Given the description of an element on the screen output the (x, y) to click on. 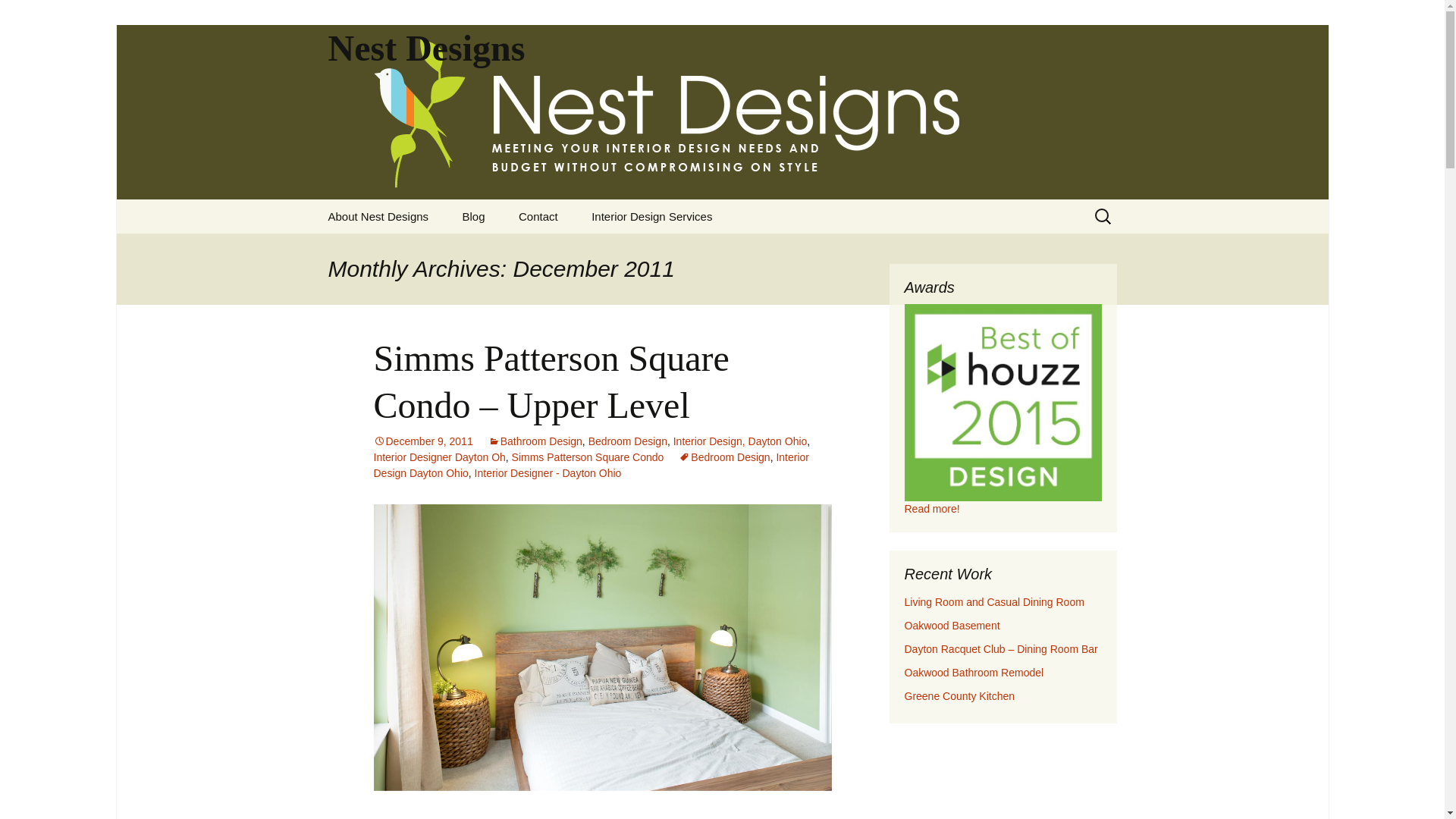
Bedroom Design (627, 440)
Interior Design Dayton Ohio (590, 465)
Bedroom Design (724, 457)
December 9, 2011 (421, 440)
Interior Design Services (651, 216)
Interior Design, Dayton Ohio (740, 440)
link to Press release (931, 508)
Contact (538, 216)
About Nest Designs (378, 216)
Search (18, 15)
Simms Patterson Square Condo (587, 457)
